Given the description of an element on the screen output the (x, y) to click on. 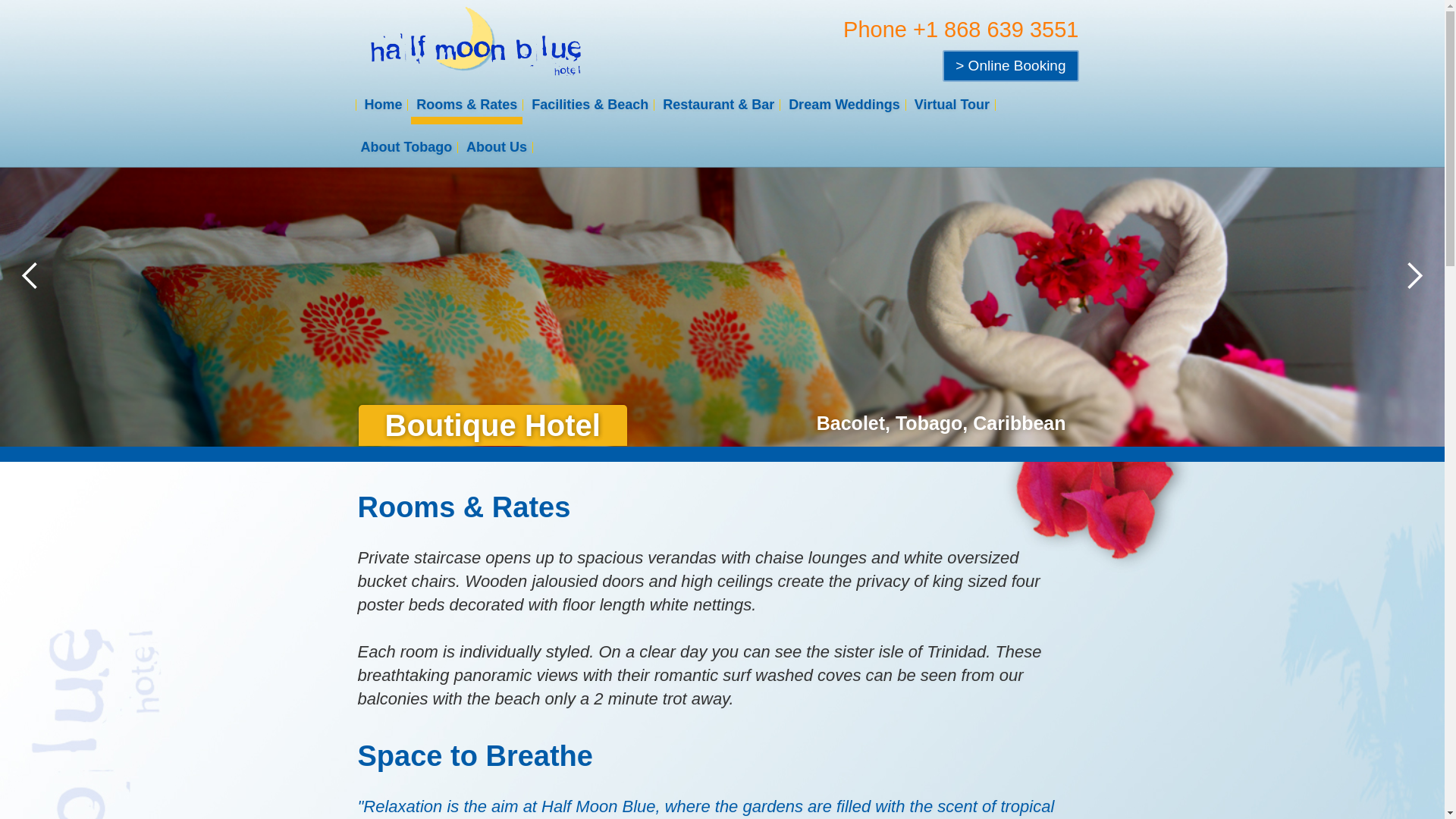
About Tobago (406, 145)
Home (382, 102)
Dream Weddings (844, 102)
About Us (496, 145)
Virtual Tour (951, 102)
